Given the description of an element on the screen output the (x, y) to click on. 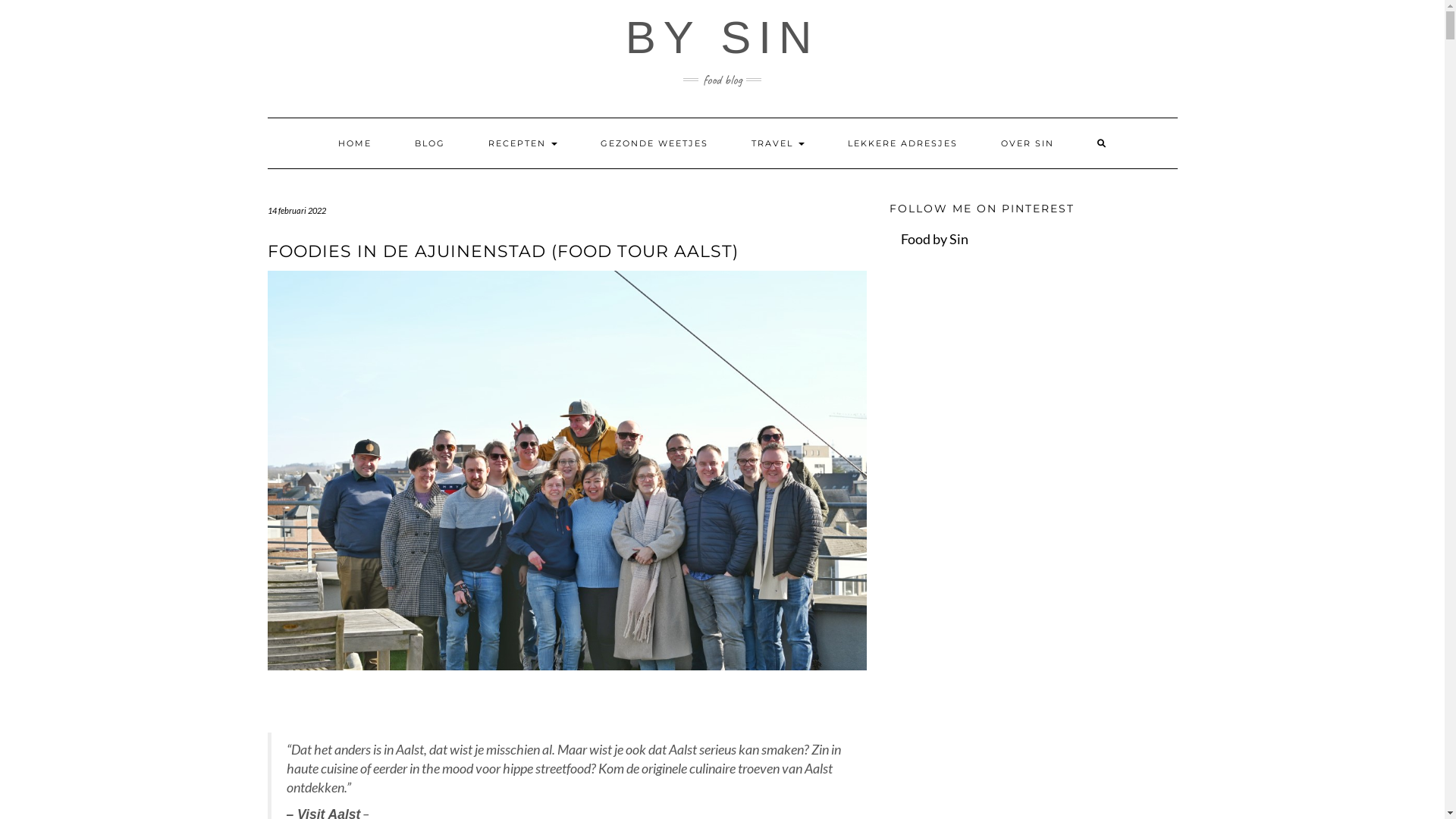
OVER SIN Element type: text (1026, 143)
TRAVEL Element type: text (778, 143)
LEKKERE ADRESJES Element type: text (901, 143)
HOME Element type: text (353, 143)
Food by Sin Element type: text (934, 238)
GEZONDE WEETJES Element type: text (653, 143)
BLOG Element type: text (429, 143)
RECEPTEN Element type: text (522, 143)
BY SIN Element type: text (722, 37)
